Given the description of an element on the screen output the (x, y) to click on. 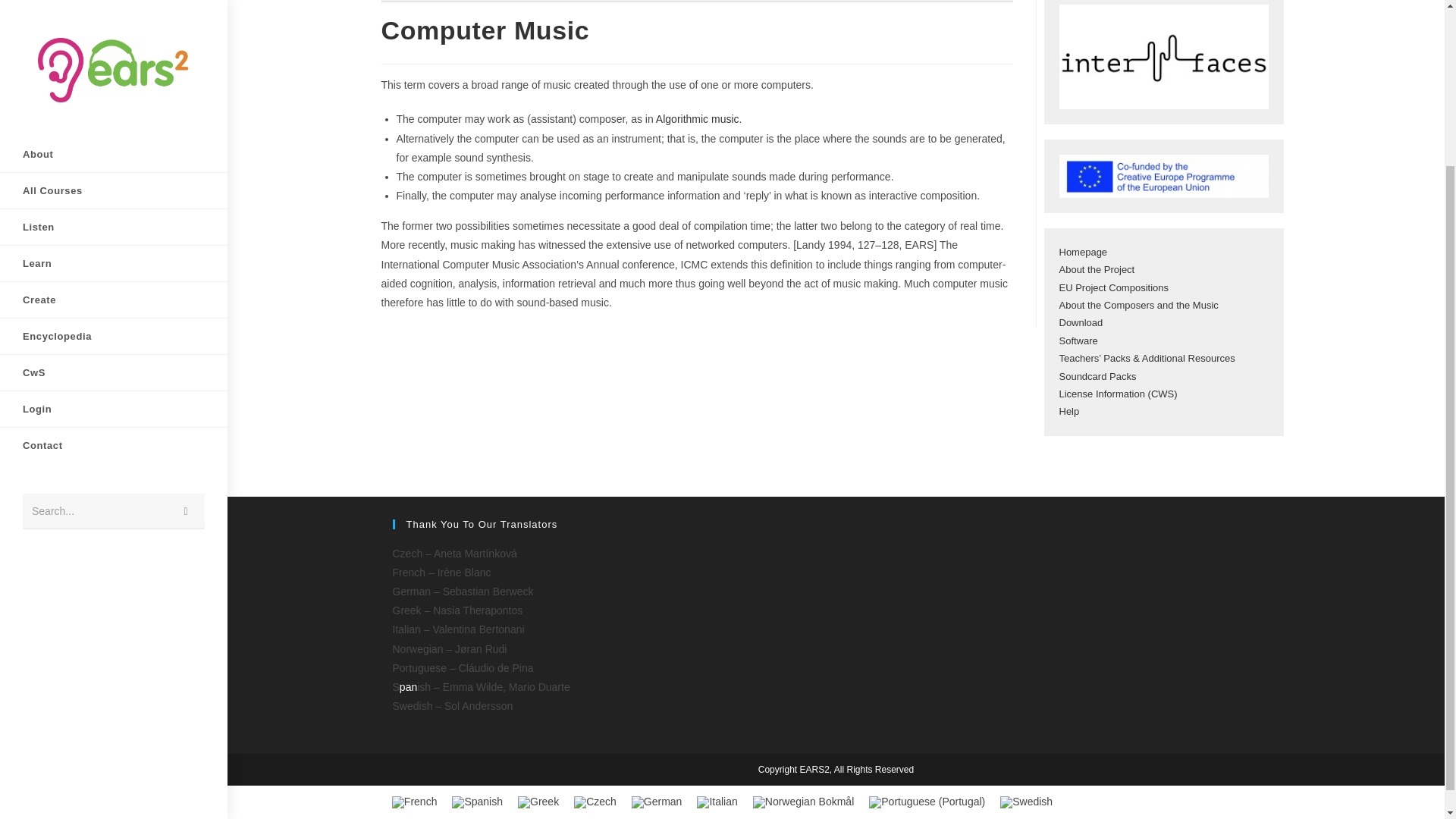
Login (113, 205)
Submit search (186, 307)
Create (113, 96)
CwS (113, 169)
Contact (113, 242)
All Courses (113, 2)
Listen (113, 23)
Learn (113, 59)
Encyclopedia (113, 132)
